Given the description of an element on the screen output the (x, y) to click on. 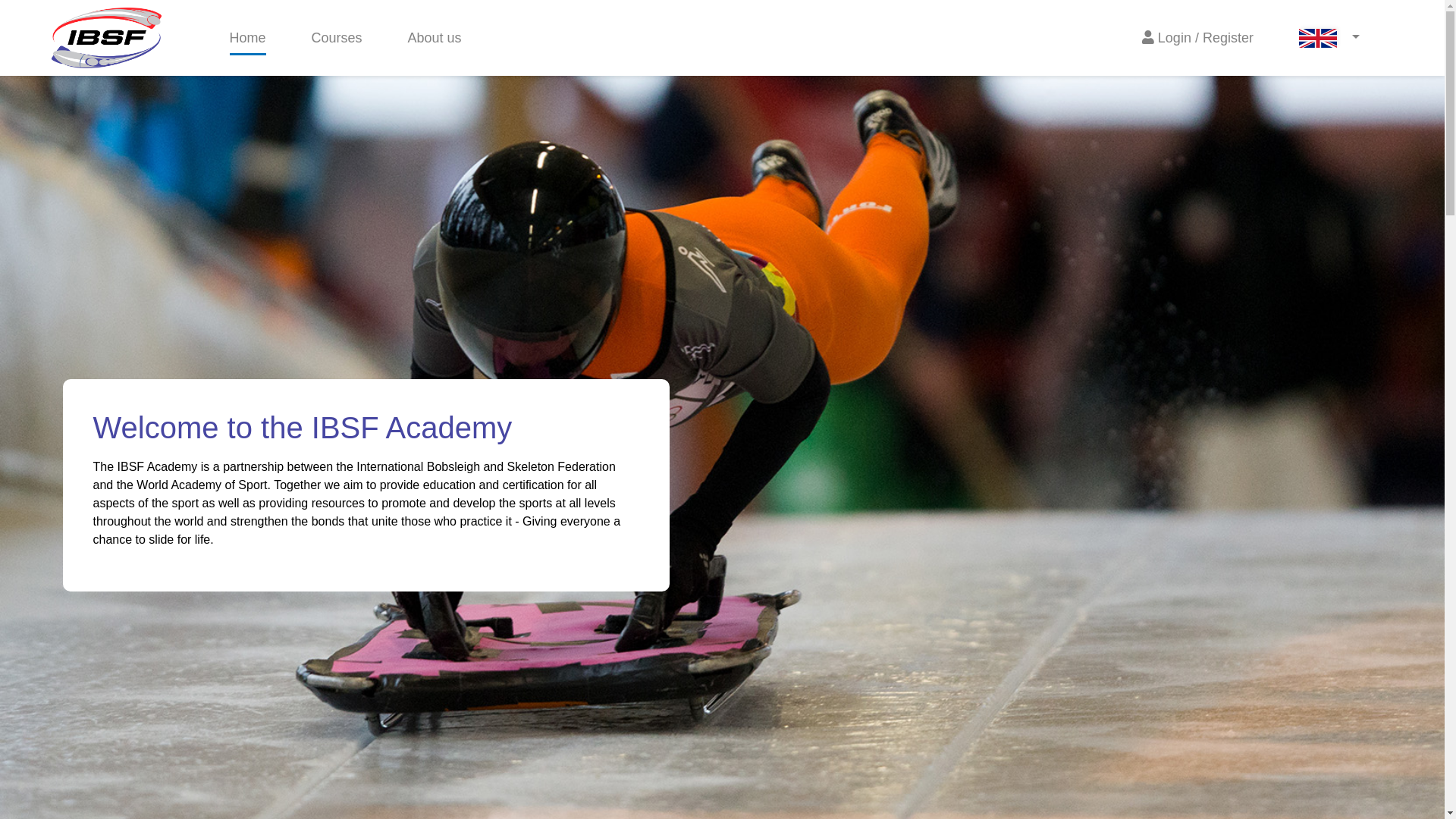
Home (246, 38)
Courses (336, 38)
About us (434, 38)
Courses (336, 38)
Home (246, 38)
About us (434, 38)
